Given the description of an element on the screen output the (x, y) to click on. 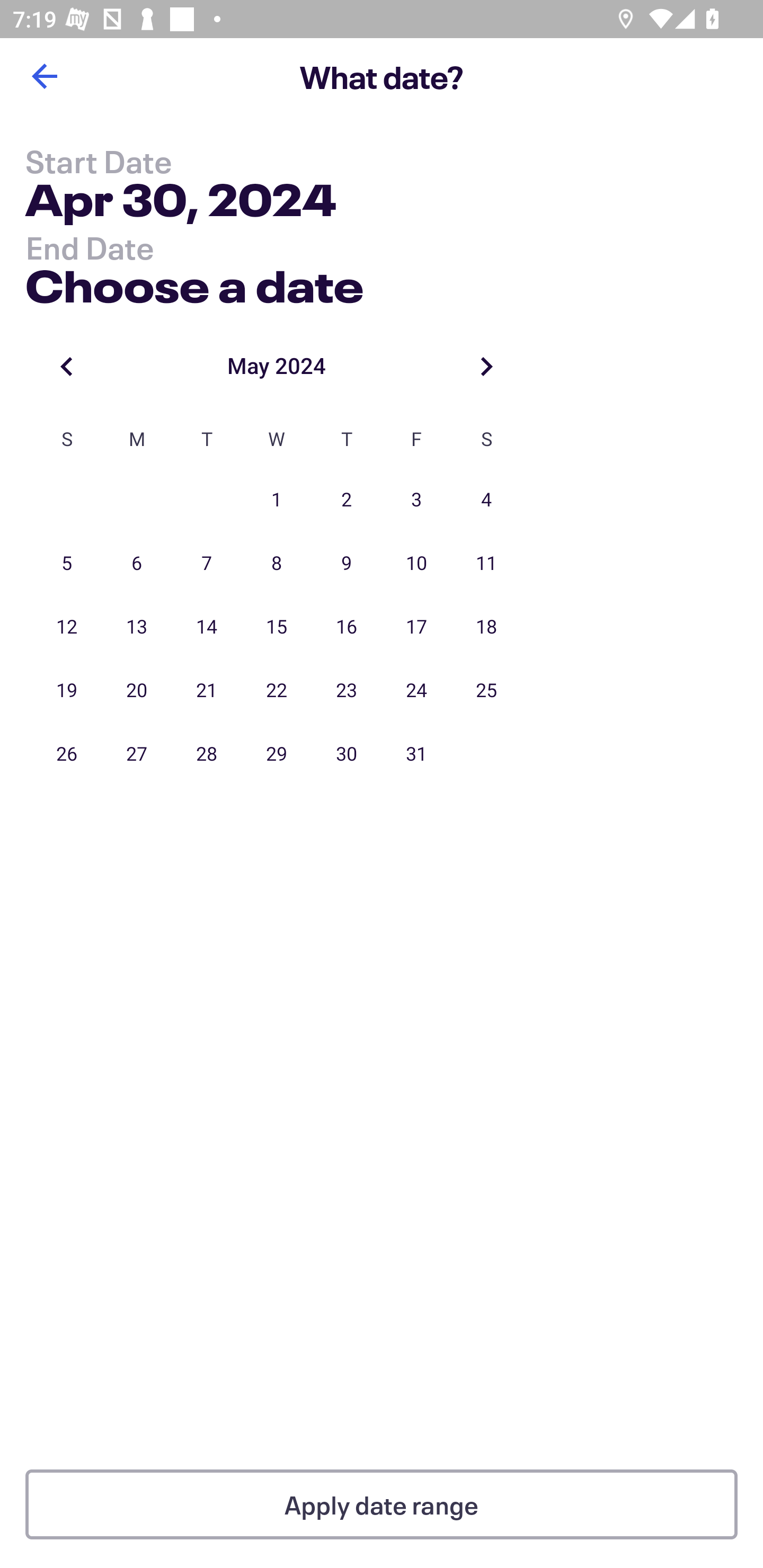
Back button (44, 75)
Apr 30, 2024 (180, 203)
Choose a date (194, 282)
Previous month (66, 365)
Next month (486, 365)
1 01 May 2024 (276, 499)
2 02 May 2024 (346, 499)
3 03 May 2024 (416, 499)
4 04 May 2024 (486, 499)
5 05 May 2024 (66, 563)
6 06 May 2024 (136, 563)
7 07 May 2024 (206, 563)
8 08 May 2024 (276, 563)
9 09 May 2024 (346, 563)
10 10 May 2024 (416, 563)
11 11 May 2024 (486, 563)
12 12 May 2024 (66, 626)
13 13 May 2024 (136, 626)
14 14 May 2024 (206, 626)
15 15 May 2024 (276, 626)
16 16 May 2024 (346, 626)
17 17 May 2024 (416, 626)
18 18 May 2024 (486, 626)
19 19 May 2024 (66, 690)
20 20 May 2024 (136, 690)
21 21 May 2024 (206, 690)
22 22 May 2024 (276, 690)
23 23 May 2024 (346, 690)
24 24 May 2024 (416, 690)
25 25 May 2024 (486, 690)
26 26 May 2024 (66, 753)
27 27 May 2024 (136, 753)
28 28 May 2024 (206, 753)
29 29 May 2024 (276, 753)
30 30 May 2024 (346, 753)
31 31 May 2024 (416, 753)
Apply date range (381, 1504)
